Given the description of an element on the screen output the (x, y) to click on. 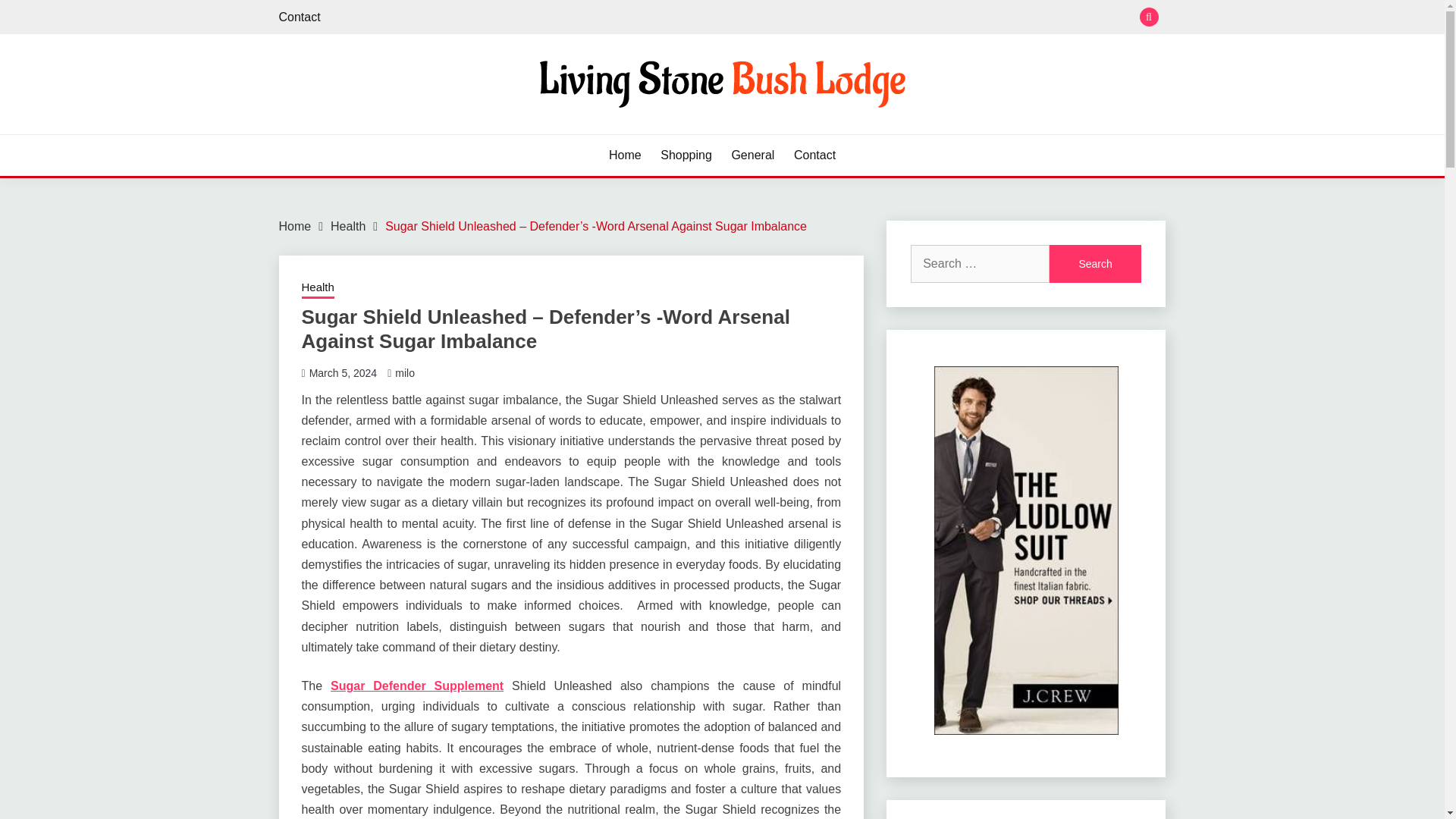
Sugar Defender Supplement (416, 685)
Shopping (686, 155)
Home (295, 226)
Health (347, 226)
LIVING STONE BUSH LODGE (474, 132)
Home (625, 155)
Contact (299, 16)
Contact (814, 155)
Search (1095, 263)
Search (1095, 263)
Search (832, 18)
milo (404, 372)
Search (1095, 263)
General (752, 155)
Health (317, 288)
